Given the description of an element on the screen output the (x, y) to click on. 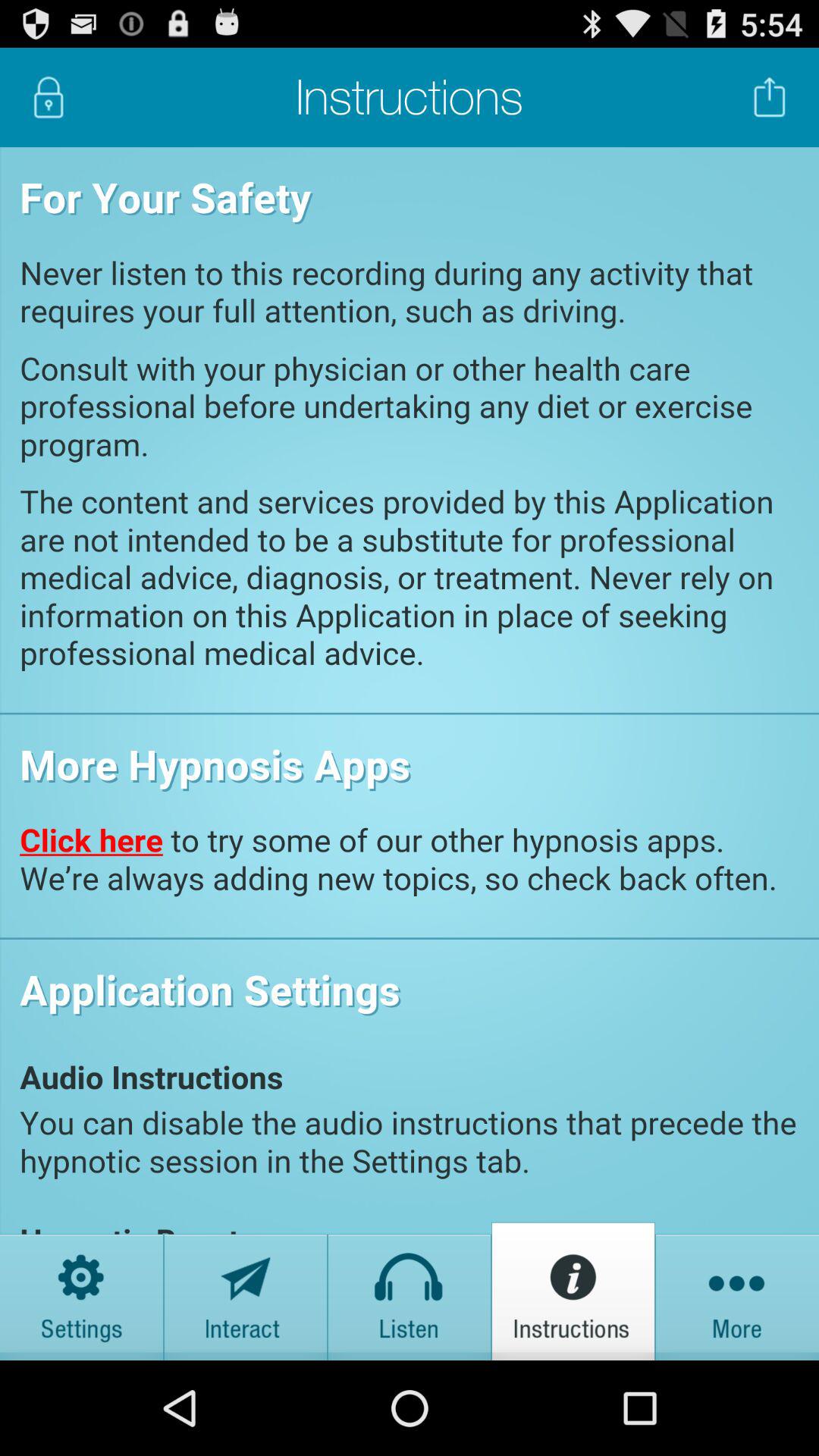
click to listen (409, 1290)
